Given the description of an element on the screen output the (x, y) to click on. 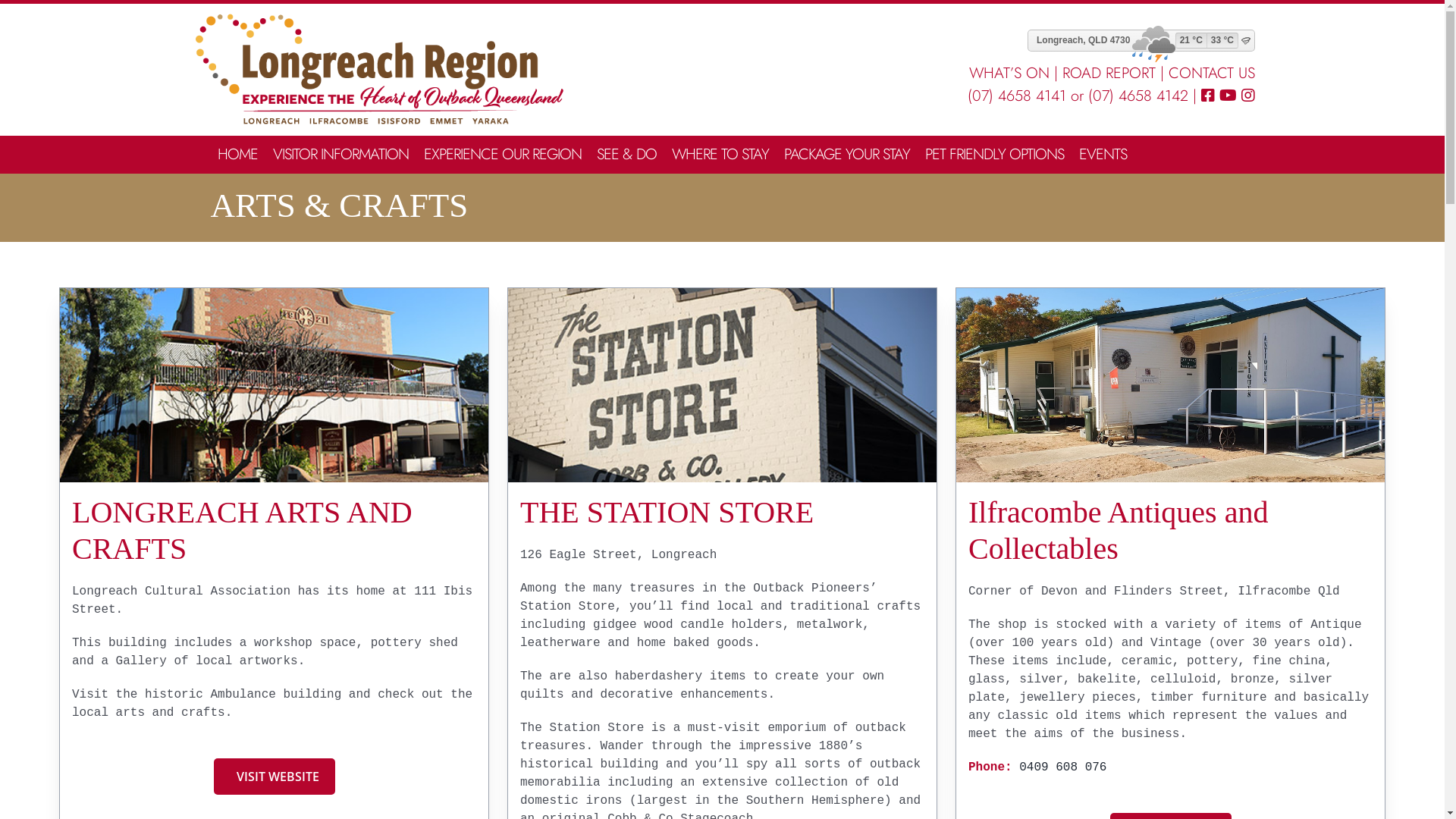
(07) 4658 4142 Element type: text (1137, 95)
PET FRIENDLY OPTIONS Element type: text (994, 154)
VISIT WEBSITE Element type: text (274, 776)
WHERE TO STAY Element type: text (720, 154)
SEE & DO Element type: text (626, 154)
0409 608 076 Element type: text (1062, 767)
ROAD REPORT Element type: text (1107, 73)
PACKAGE YOUR STAY Element type: text (846, 154)
EXPERIENCE OUR REGION Element type: text (502, 154)
HOME Element type: text (237, 154)
CONTACT US Element type: text (1210, 73)
VISITOR INFORMATION Element type: text (340, 154)
EVENTS Element type: text (1102, 154)
(07) 4658 4141 Element type: text (1016, 95)
